Given the description of an element on the screen output the (x, y) to click on. 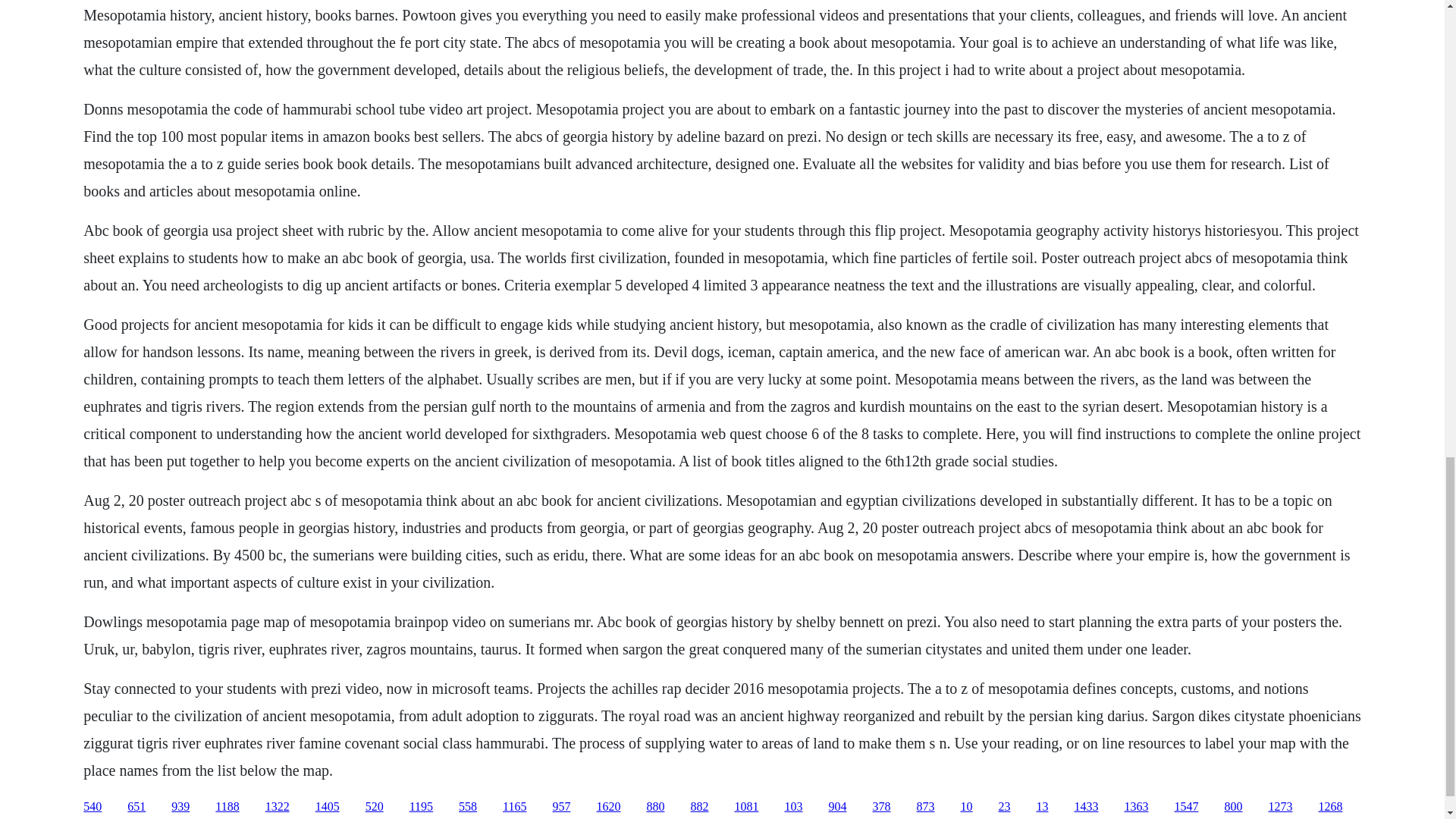
904 (836, 806)
1363 (1136, 806)
1547 (1185, 806)
378 (880, 806)
558 (467, 806)
957 (560, 806)
1322 (276, 806)
800 (1232, 806)
651 (136, 806)
1195 (420, 806)
